Given the description of an element on the screen output the (x, y) to click on. 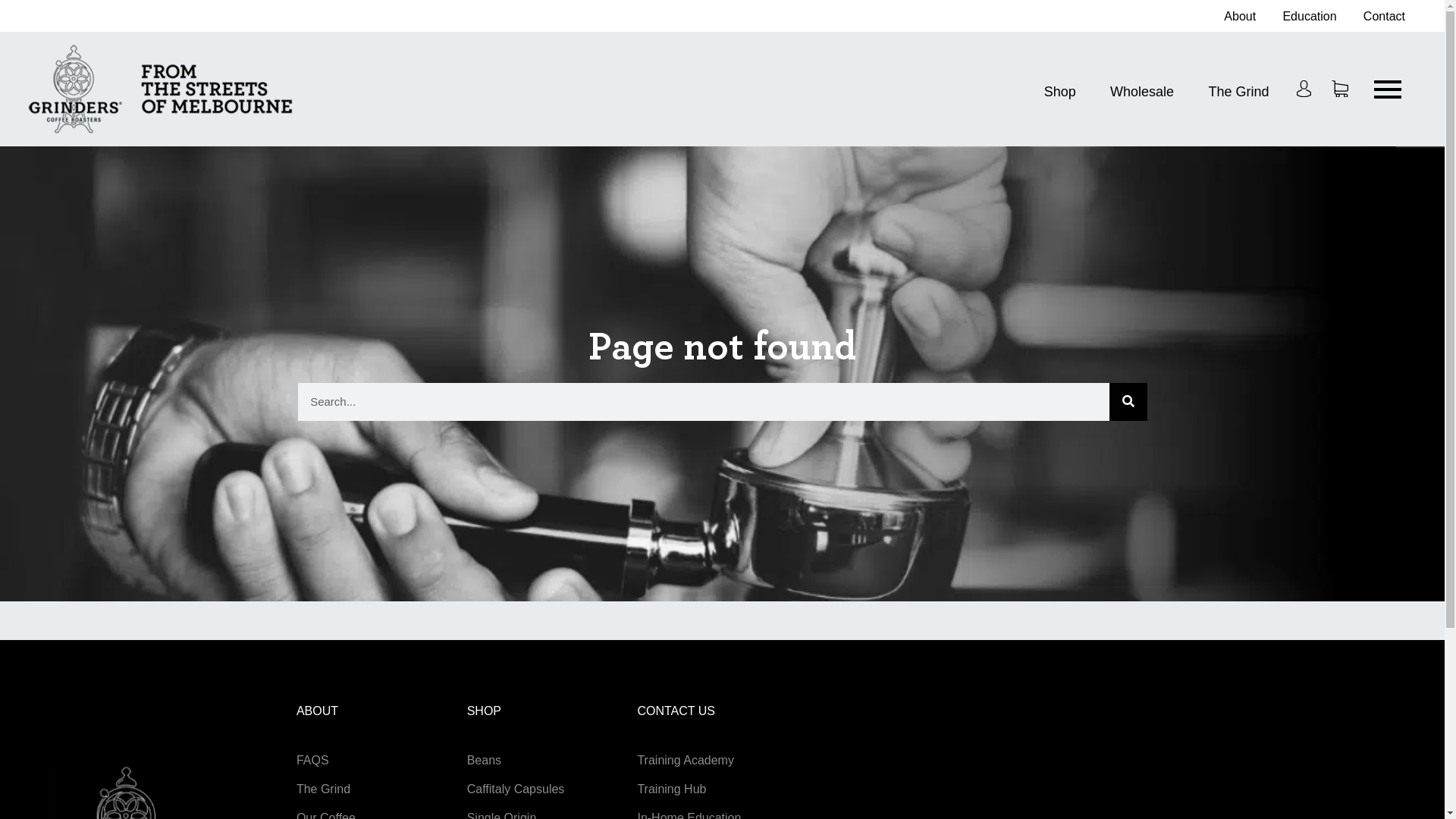
Cart Element type: text (1339, 88)
Wholesale Element type: text (1141, 90)
Beans Element type: text (484, 759)
Shop Element type: text (1060, 90)
Education Element type: text (1309, 15)
FAQS Element type: text (312, 759)
The Grind Element type: text (323, 788)
Contact Element type: text (1384, 15)
CONTACT US Element type: text (676, 710)
Caffitaly Capsules Element type: text (515, 788)
Training Hub Element type: text (671, 788)
ABOUT Element type: text (317, 710)
The Grind Element type: text (1238, 90)
Training Academy Element type: text (685, 759)
MY ACCOUNT Element type: text (1303, 88)
About Element type: text (1239, 15)
Primary Menu Element type: text (1387, 88)
SHOP Element type: text (484, 710)
